Given the description of an element on the screen output the (x, y) to click on. 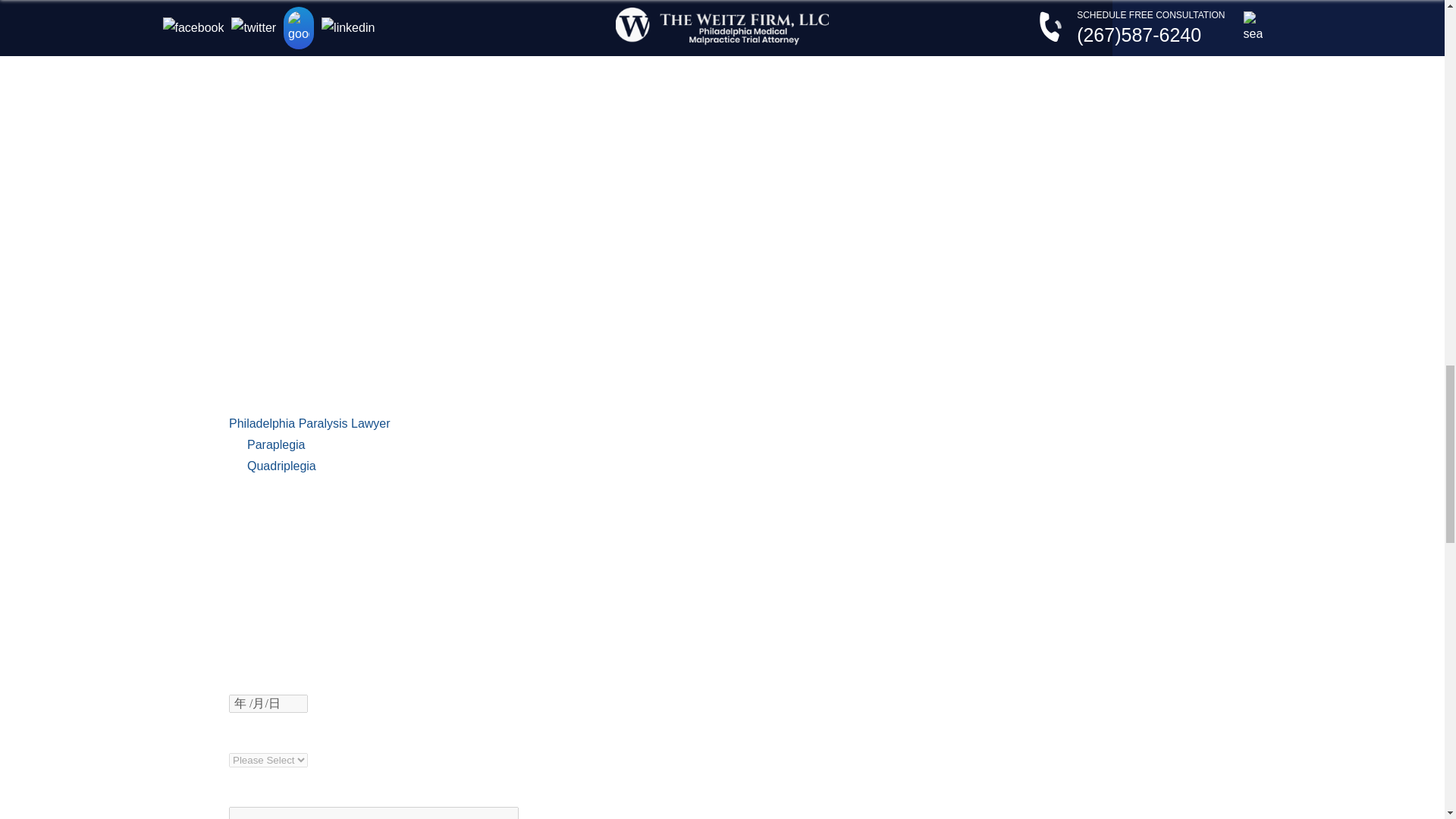
click here to start a free consultation (368, 278)
